Given the description of an element on the screen output the (x, y) to click on. 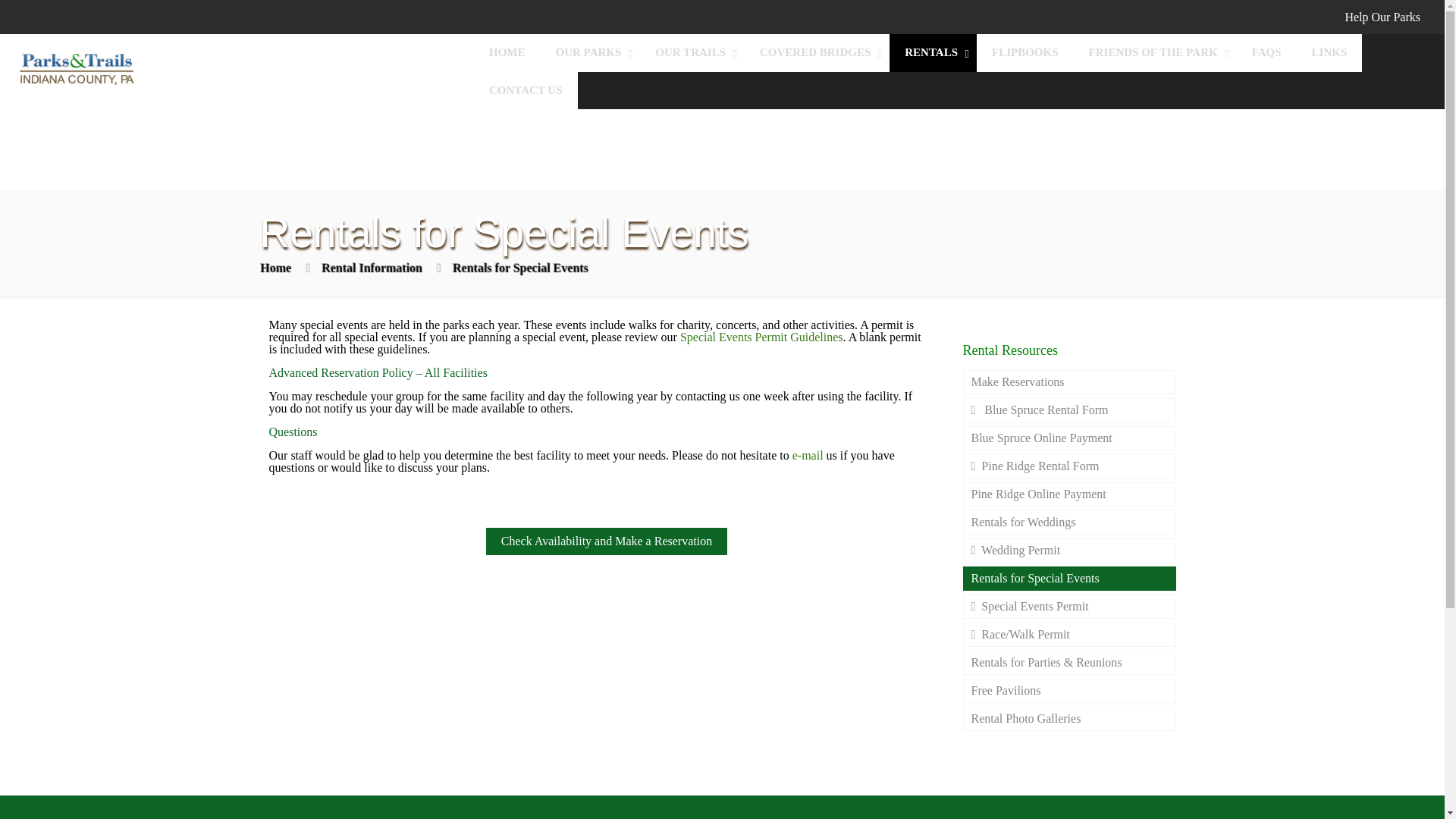
Help Our Parks (1382, 16)
HOME (507, 53)
Indiana County Parks (76, 68)
OUR PARKS (590, 53)
